Given the description of an element on the screen output the (x, y) to click on. 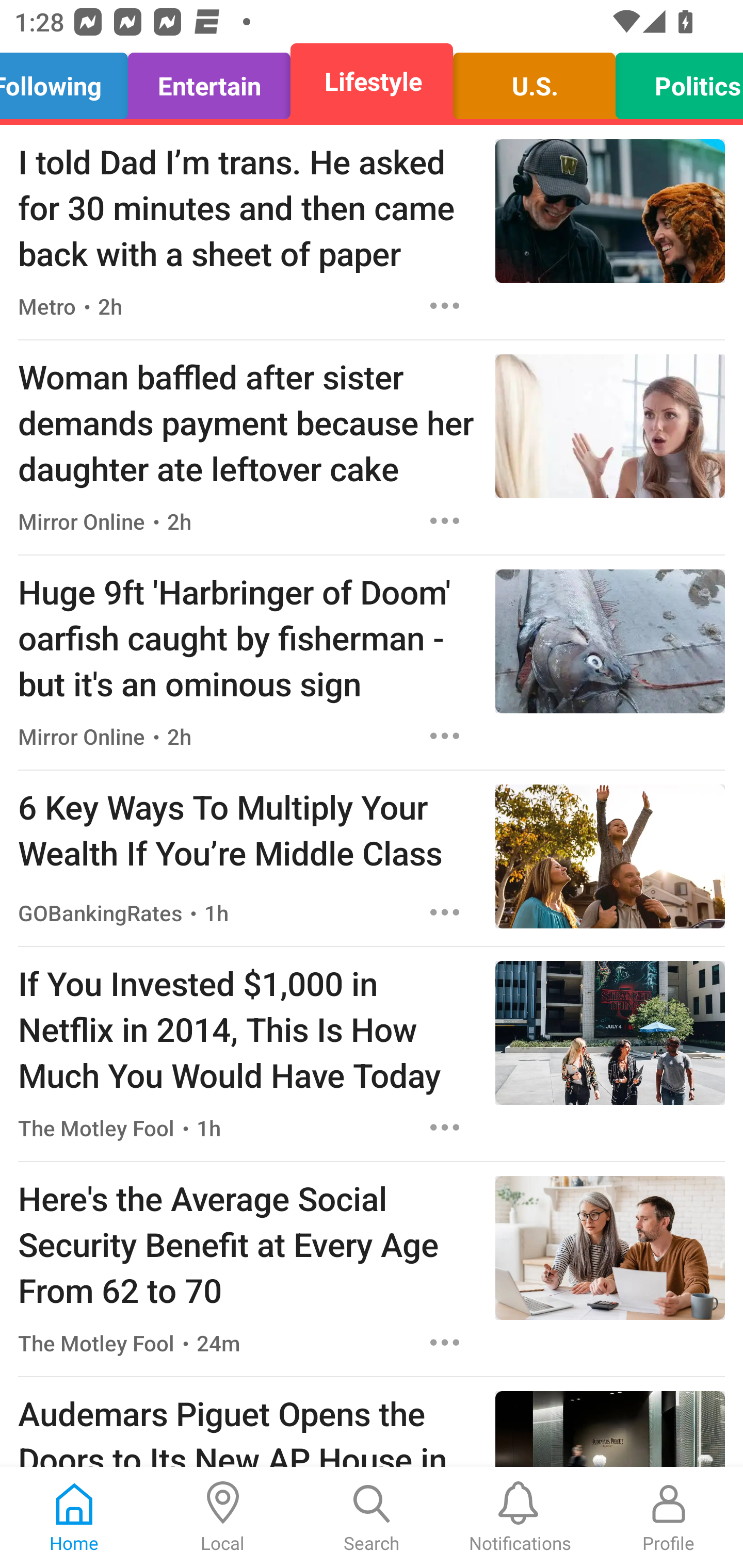
Entertain (209, 81)
Lifestyle (371, 81)
U.S. (534, 81)
Politics (673, 81)
Options (444, 305)
Options (444, 520)
Options (444, 736)
Options (444, 912)
Options (444, 1127)
Options (444, 1342)
Local (222, 1517)
Search (371, 1517)
Notifications (519, 1517)
Profile (668, 1517)
